Given the description of an element on the screen output the (x, y) to click on. 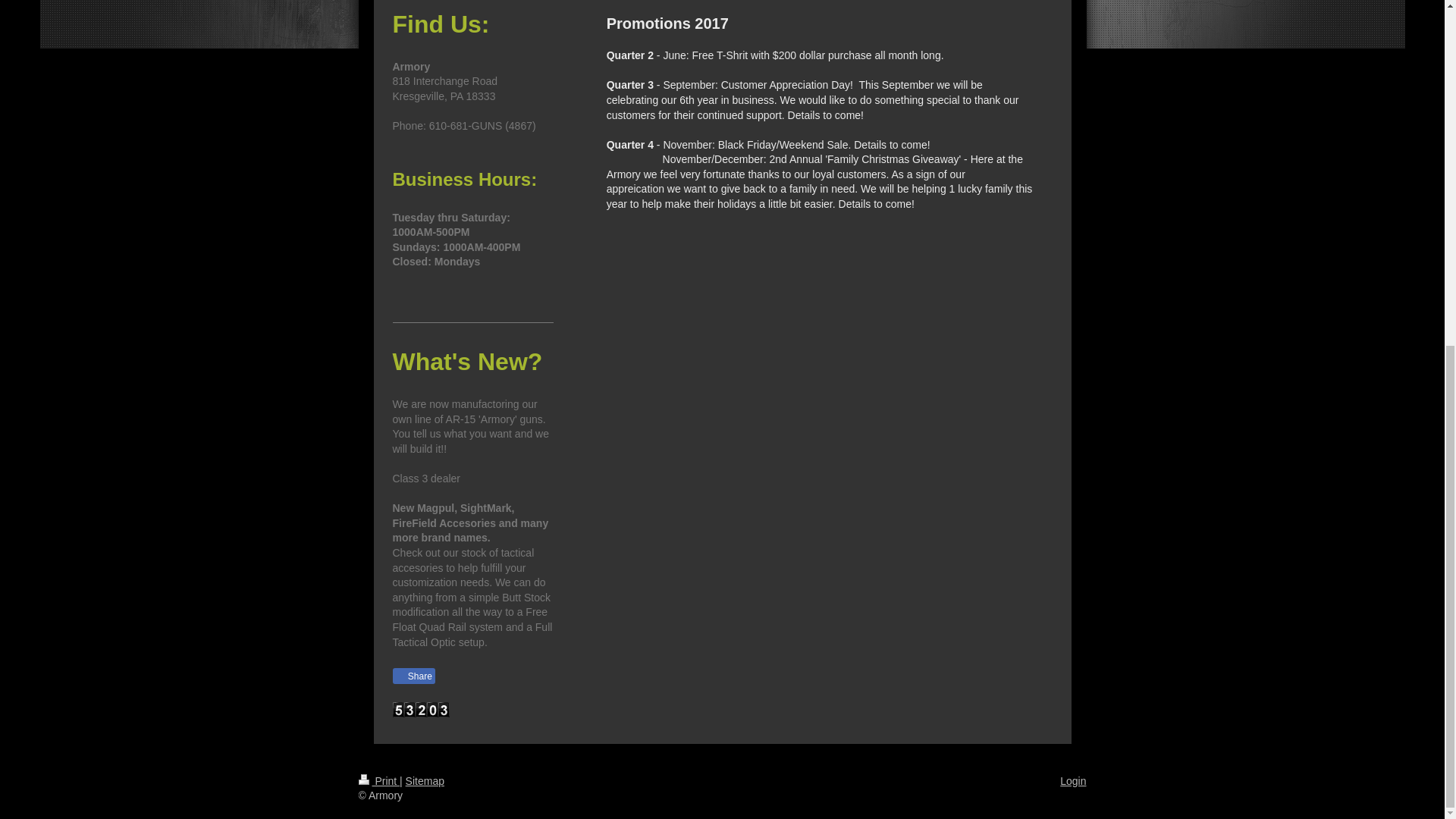
Print (378, 780)
Share (414, 675)
